Given the description of an element on the screen output the (x, y) to click on. 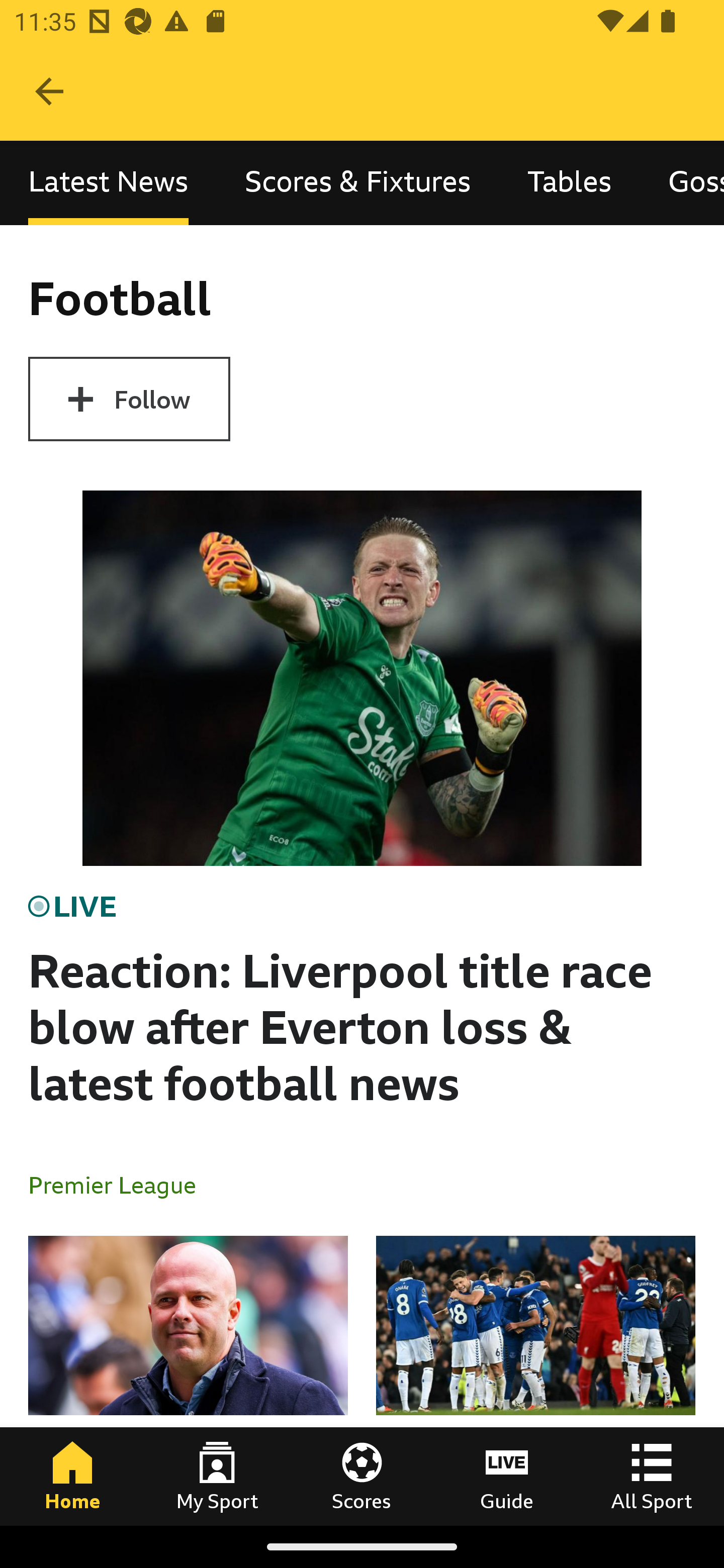
Navigate up (49, 91)
Latest News, selected Latest News (108, 183)
Scores & Fixtures (357, 183)
Tables (569, 183)
Follow Football Follow (129, 398)
Premier League In the section Premier League (119, 1184)
Slot philosophy could suit Liverpool - Van Dijk (188, 1380)
My Sport (216, 1475)
Scores (361, 1475)
Guide (506, 1475)
All Sport (651, 1475)
